Given the description of an element on the screen output the (x, y) to click on. 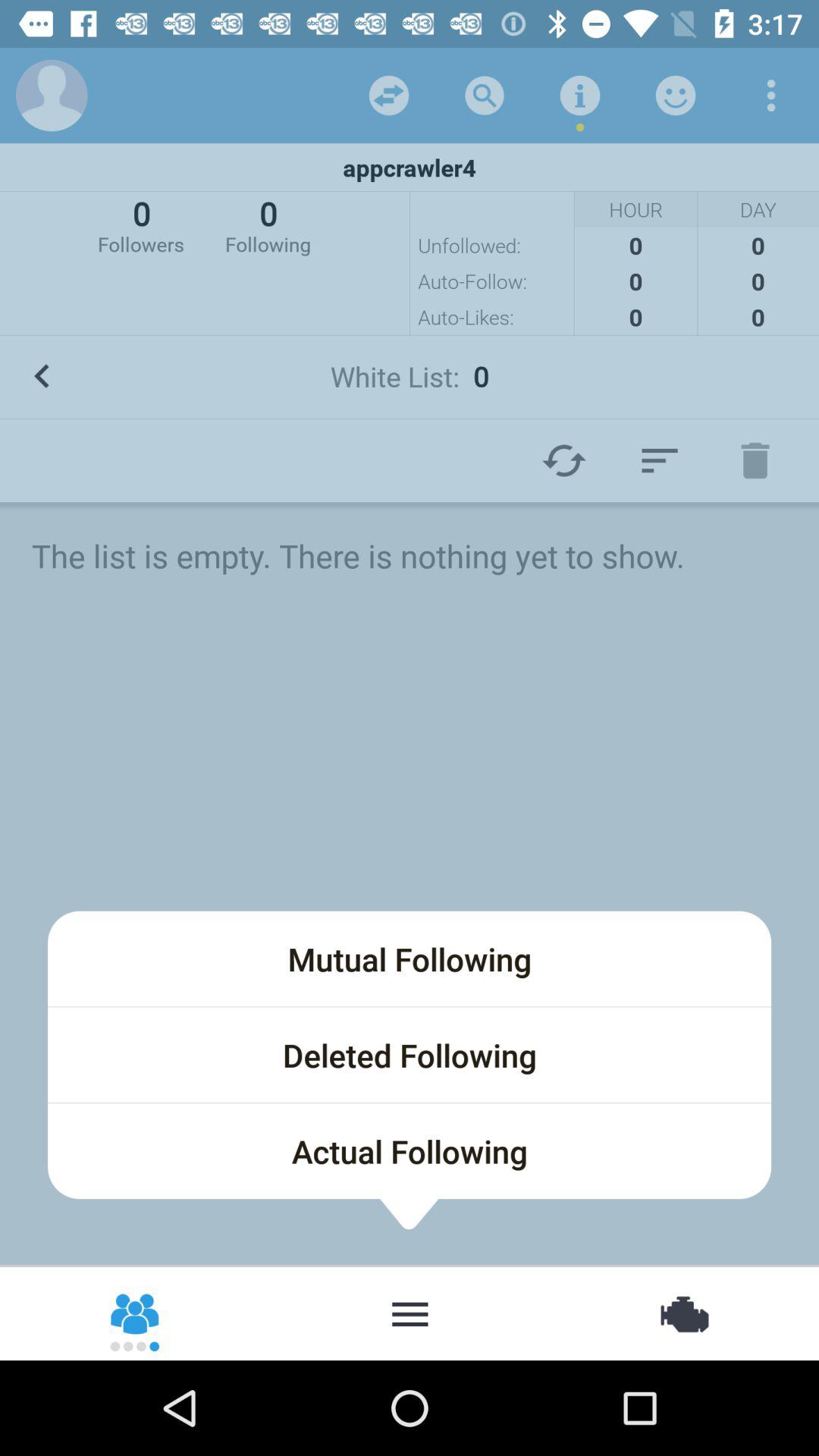
open item above the the list is icon (659, 460)
